Given the description of an element on the screen output the (x, y) to click on. 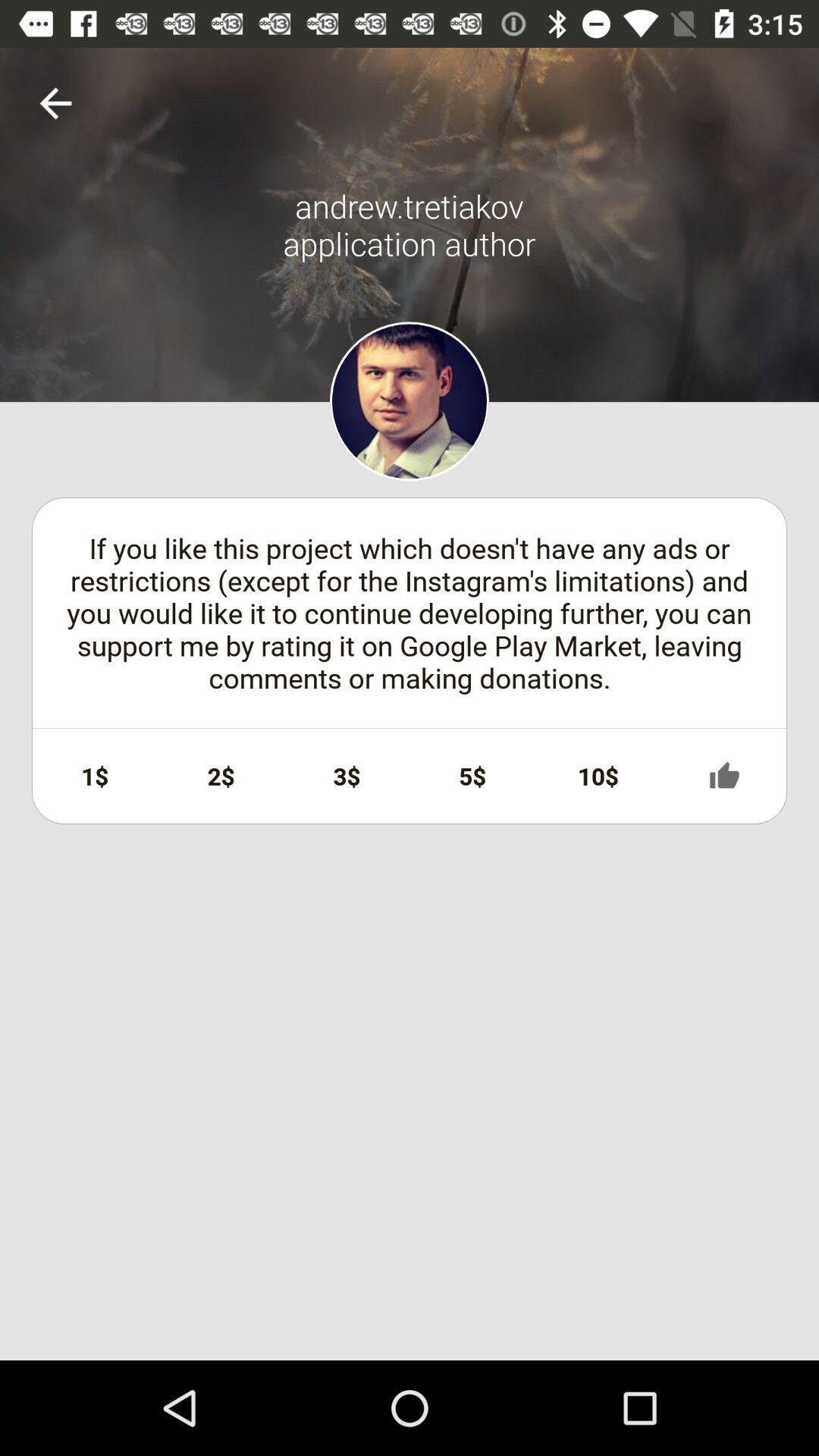
turn off 2$ icon (221, 776)
